Given the description of an element on the screen output the (x, y) to click on. 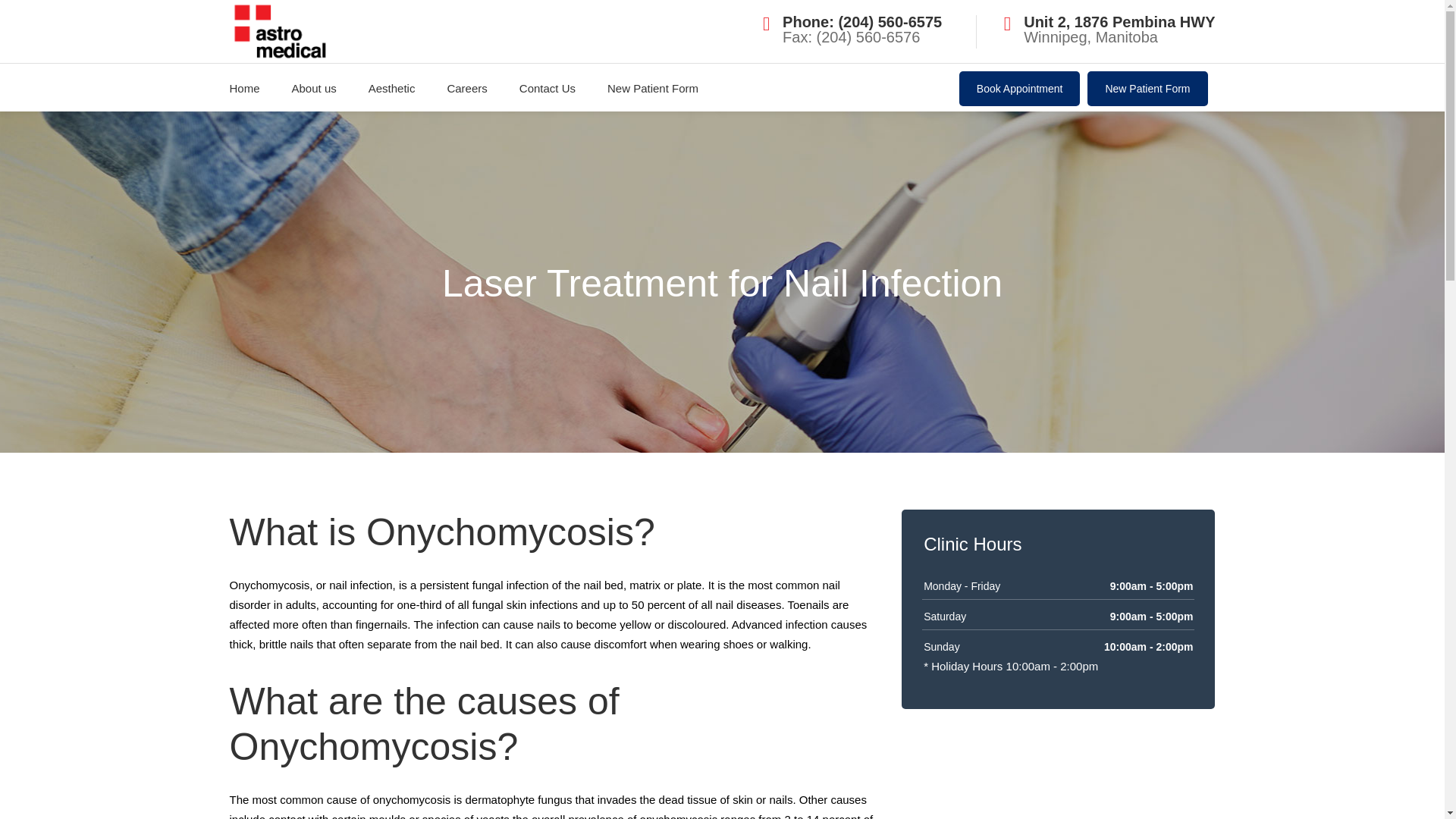
Home (245, 87)
About us (314, 87)
Book Appointment (1019, 88)
Aesthetic (391, 87)
Careers (466, 87)
Contact Us (547, 87)
New Patient Form (652, 87)
New Patient Form (1147, 88)
